Given the description of an element on the screen output the (x, y) to click on. 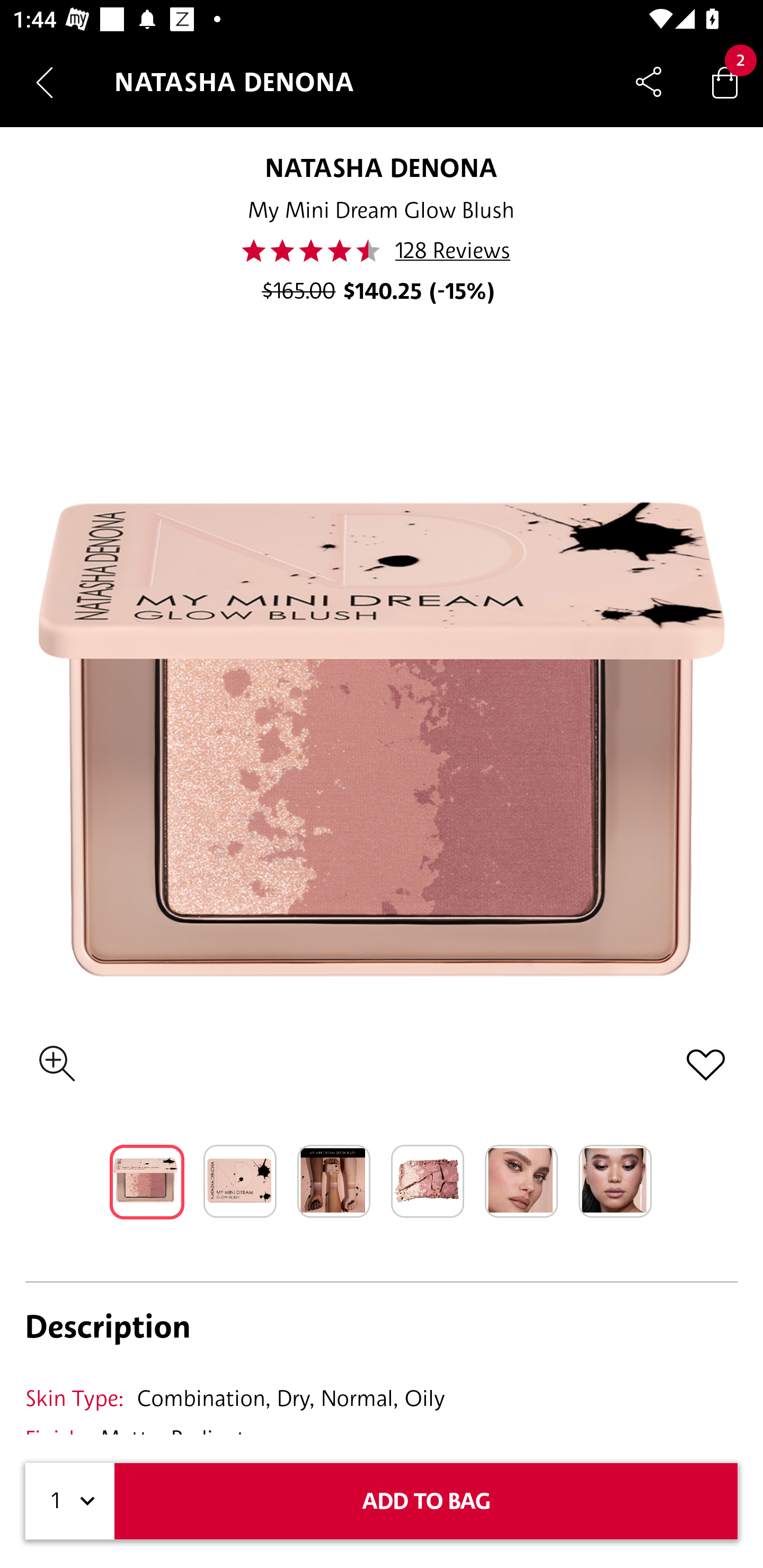
Navigate up (44, 82)
Share (648, 81)
Bag (724, 81)
NATASHA DENONA (381, 167)
45.0 128 Reviews (381, 250)
1 (69, 1500)
ADD TO BAG (425, 1500)
